Given the description of an element on the screen output the (x, y) to click on. 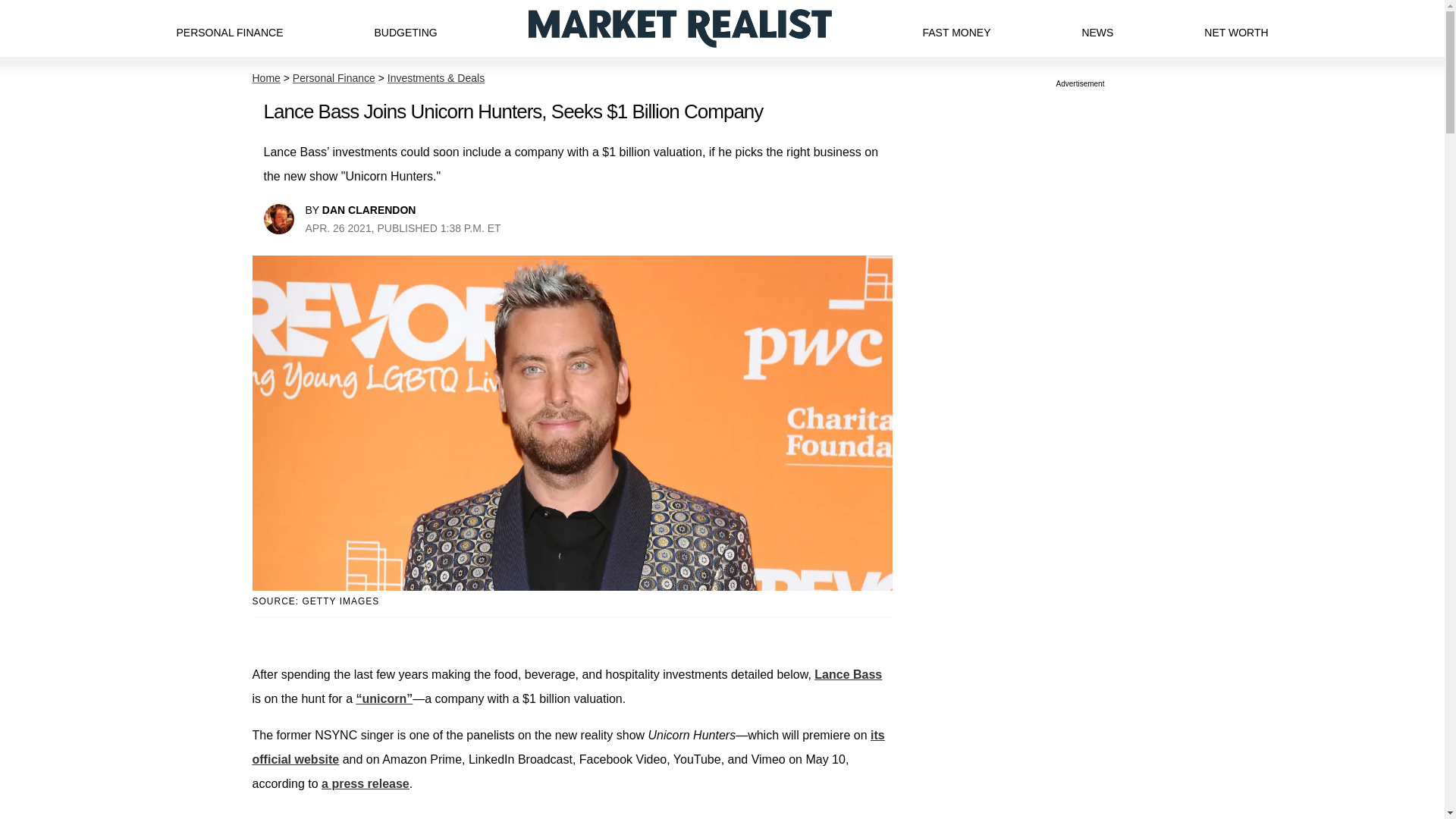
a press release (365, 783)
Home (265, 78)
FAST MONEY (955, 27)
NEWS (1097, 27)
Lance Bass (847, 674)
BUDGETING (405, 27)
DAN CLARENDON (368, 209)
NET WORTH (1236, 27)
PERSONAL FINANCE (229, 27)
Personal Finance (333, 78)
its official website (567, 746)
